Given the description of an element on the screen output the (x, y) to click on. 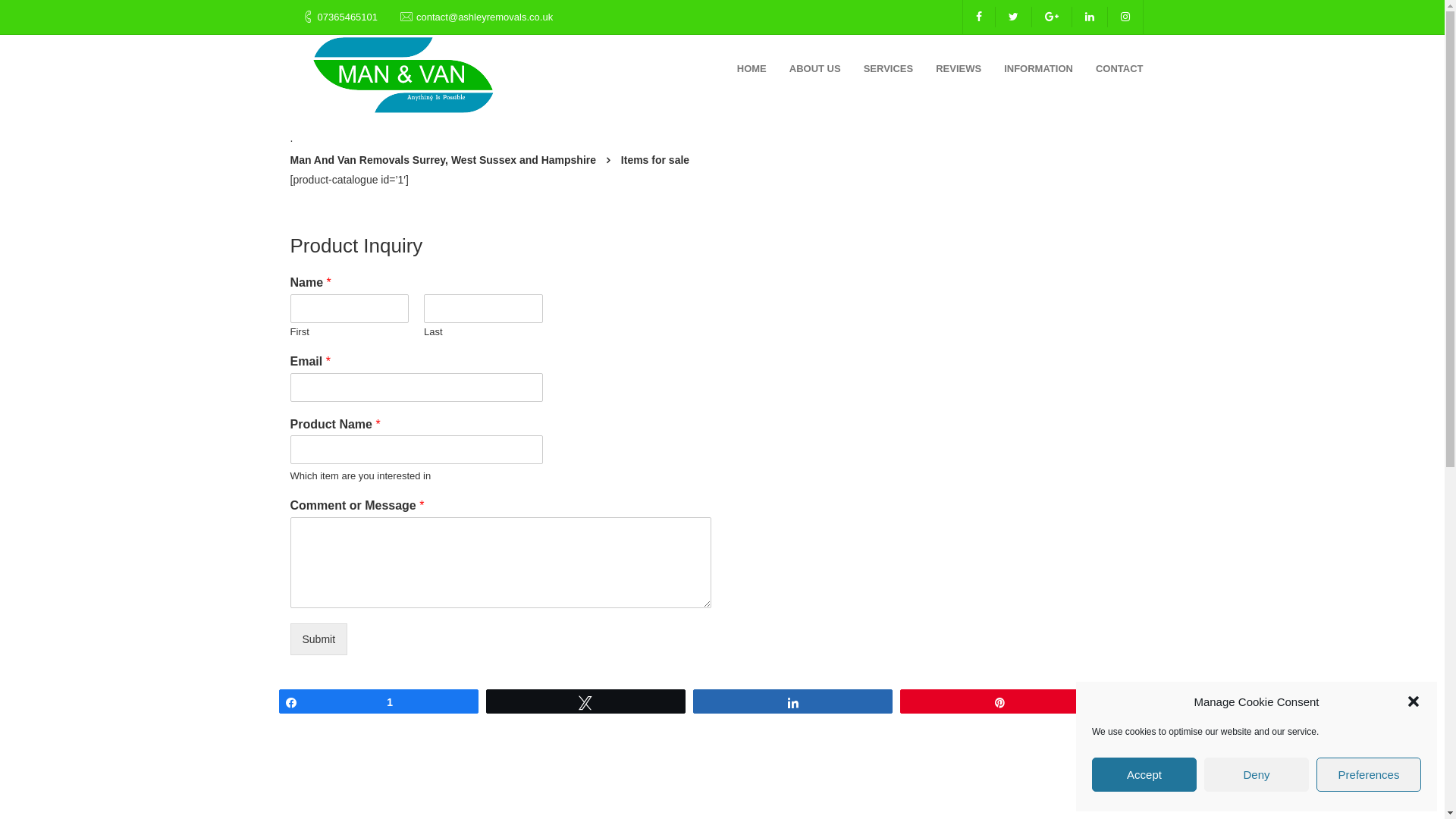
HOME Element type: text (751, 67)
07365465101 Element type: text (346, 16)
1 Element type: text (377, 701)
Deny Element type: text (1256, 774)
Accept Element type: text (1144, 774)
CONTACT Element type: text (1119, 67)
Preferences Element type: text (1368, 774)
Man And Van Removals Surrey, West Sussex and Hampshire Element type: text (442, 159)
contact@ashleyremovals.co.uk Element type: text (484, 16)
SERVICES Element type: text (888, 67)
ABOUT US Element type: text (814, 67)
Submit Element type: text (318, 639)
REVIEWS Element type: text (958, 67)
INFORMATION Element type: text (1038, 67)
